Given the description of an element on the screen output the (x, y) to click on. 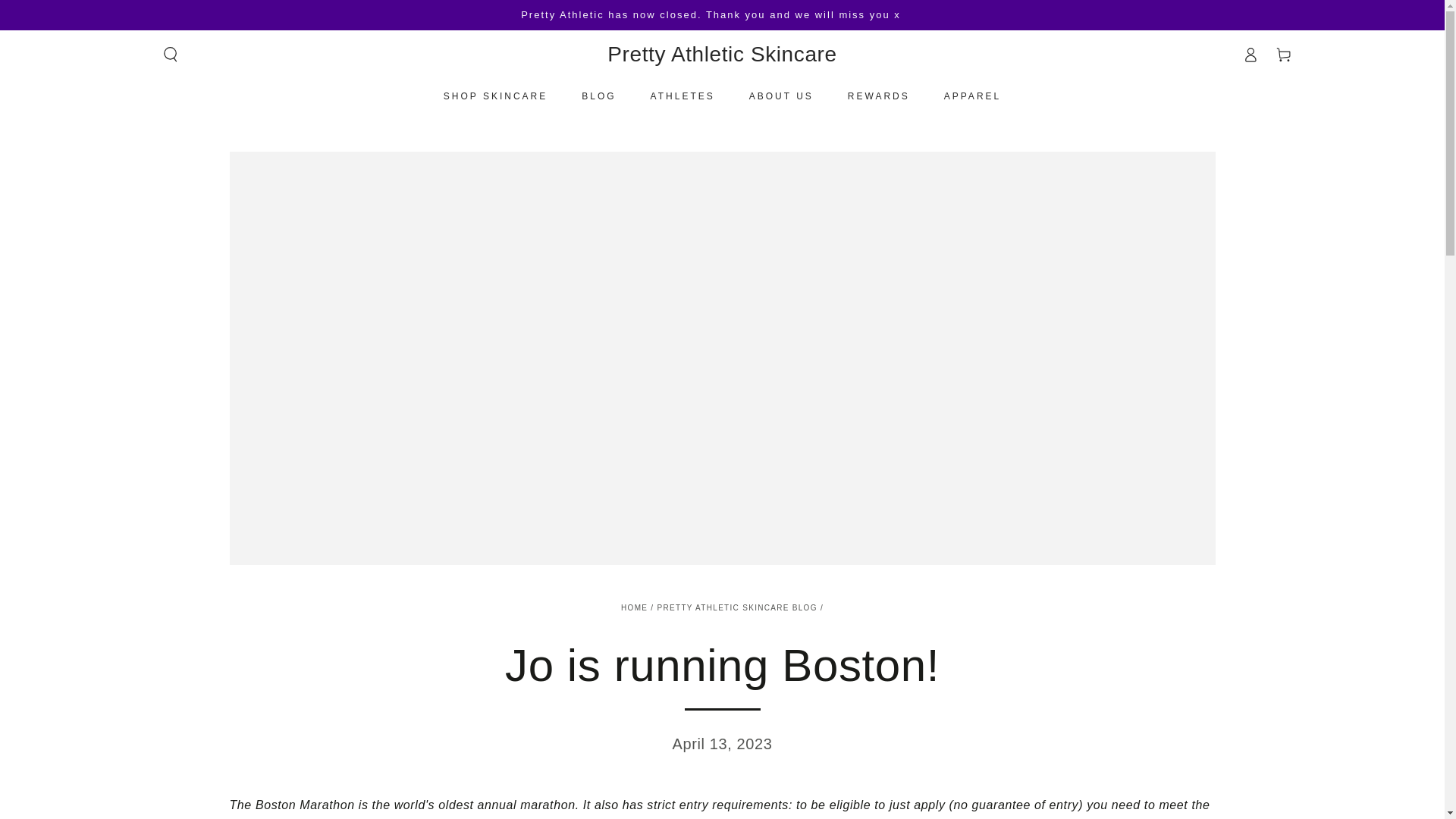
Back to the frontpage (634, 607)
Pretty Athletic Skincare (721, 54)
HOME (634, 607)
ATHLETES (682, 95)
BLOG (598, 95)
SKIP TO CONTENT (67, 14)
APPAREL (972, 95)
SHOP SKINCARE (495, 95)
ABOUT US (781, 95)
REWARDS (878, 95)
PRETTY ATHLETIC SKINCARE BLOG (737, 607)
Log in (1249, 54)
